Given the description of an element on the screen output the (x, y) to click on. 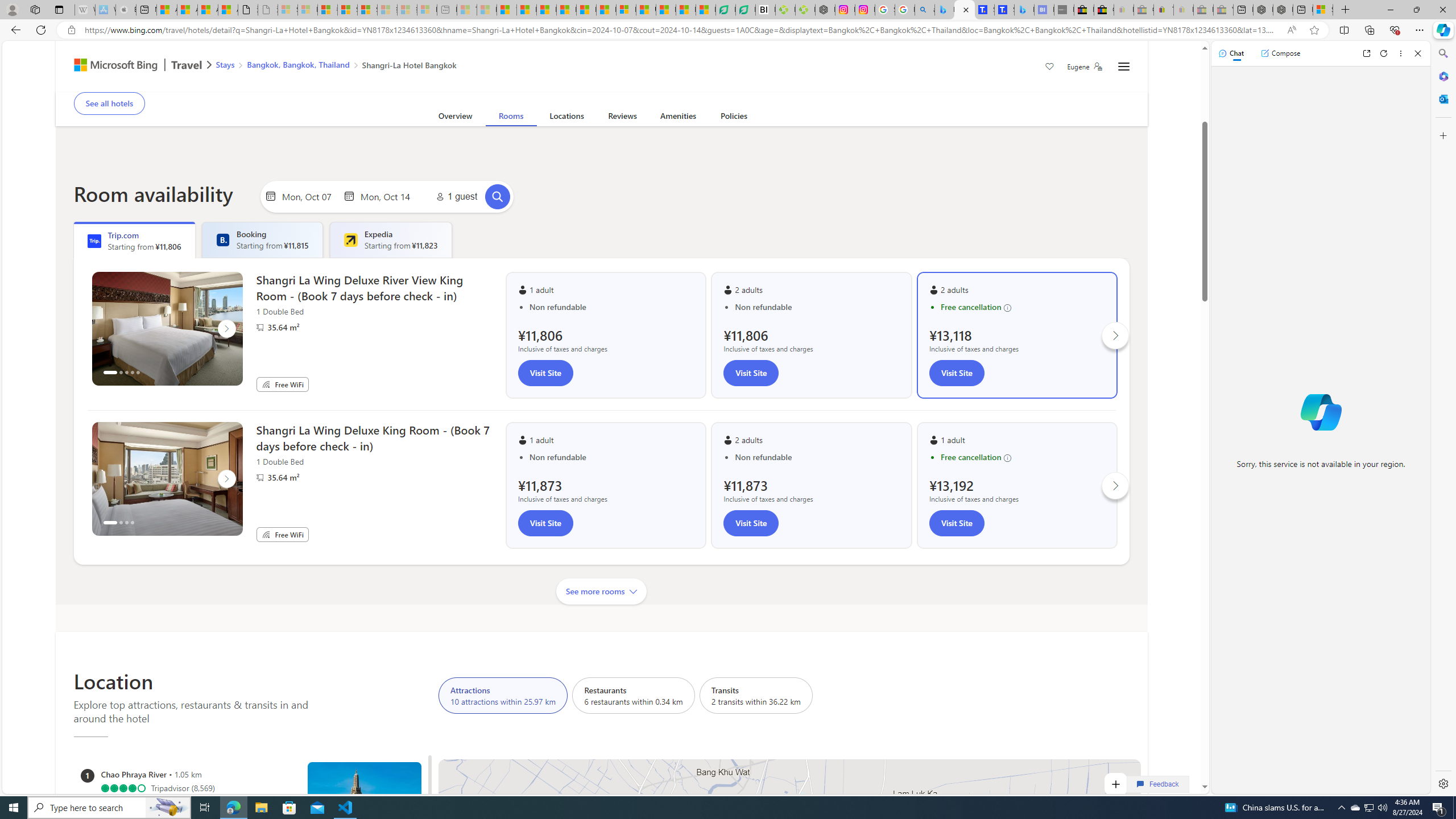
Partner Image (259, 477)
Microsoft Bing Travel - Flights from Hong Kong to Bangkok (944, 9)
US Heat Deaths Soared To Record High Last Year (646, 9)
Stays (224, 64)
Free parking (364, 84)
